Given the description of an element on the screen output the (x, y) to click on. 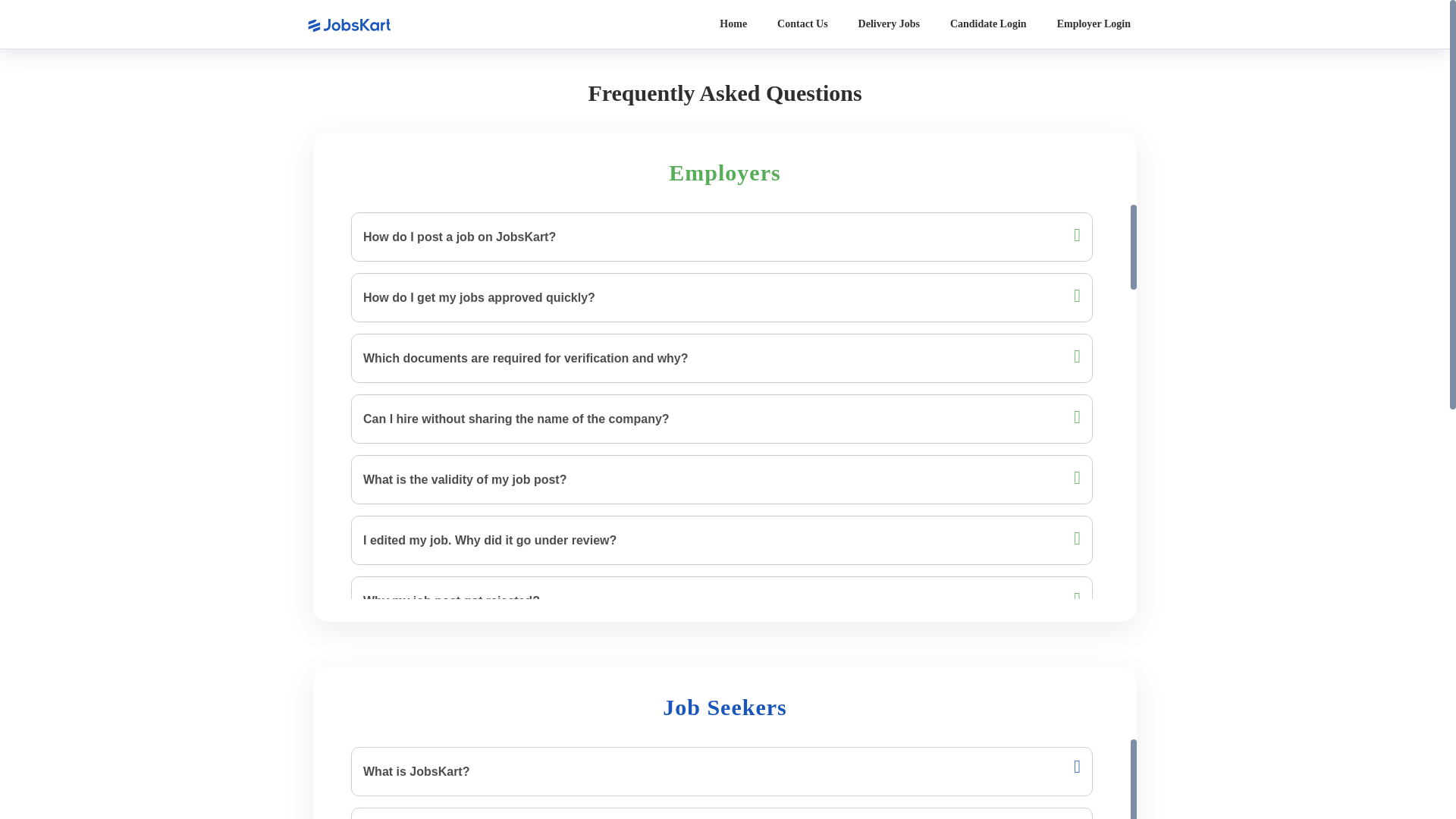
Will I only Receive nearby candidates Responses ? (722, 722)
Candidate Login (988, 24)
Which documents are required for verification and why? (722, 358)
Is there any limit on responses? (722, 661)
Why I am not getting candidates with relevant experience? (722, 782)
I edited my job. Why did it go under review? (722, 540)
Why my job post got rejected? (722, 600)
Can I hire without sharing the name of the company? (722, 418)
What is the validity of my job post? (722, 479)
How do I post a job on JobsKart? (722, 236)
